Given the description of an element on the screen output the (x, y) to click on. 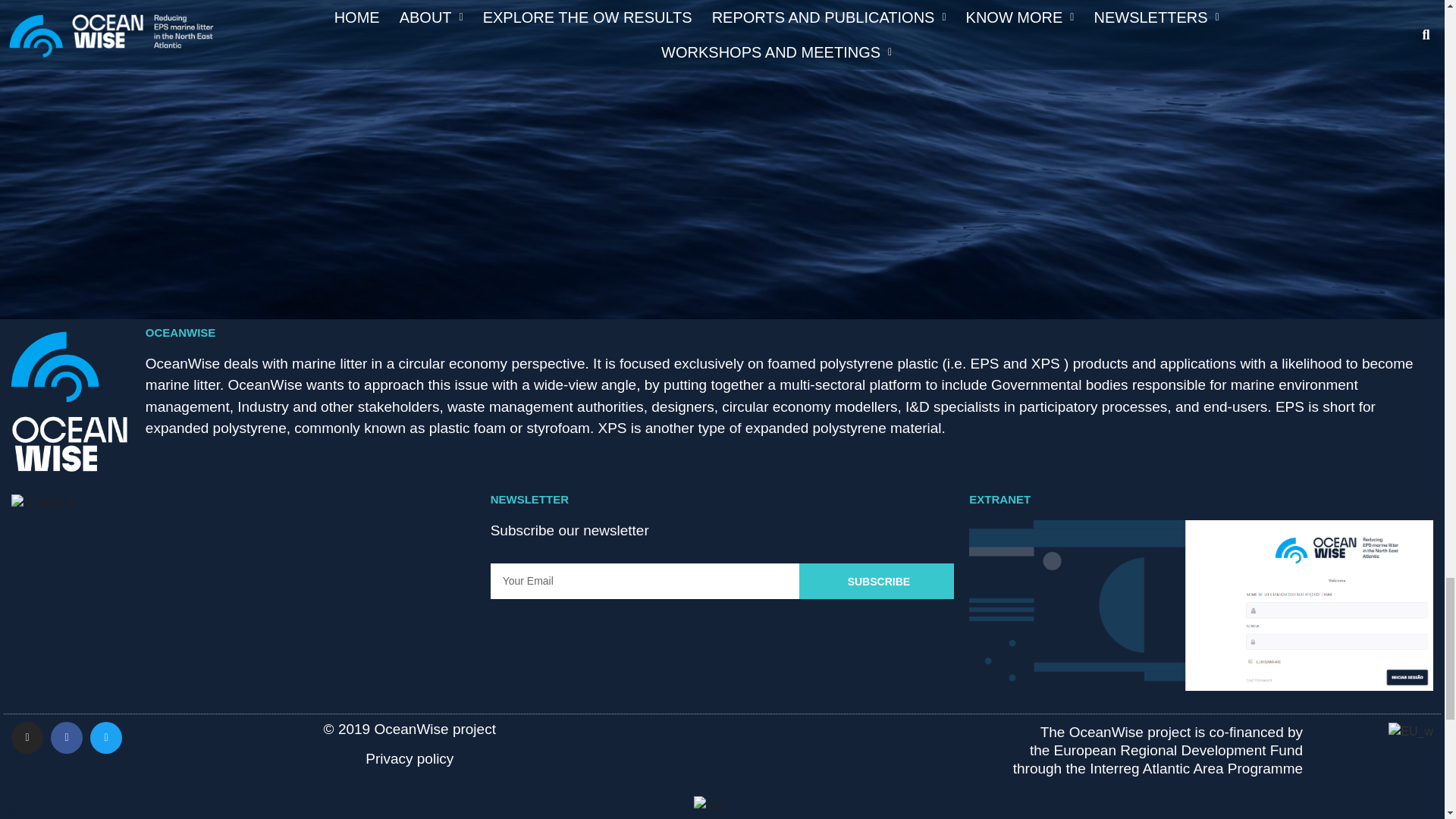
top (708, 805)
Untitled-1 (43, 503)
